Given the description of an element on the screen output the (x, y) to click on. 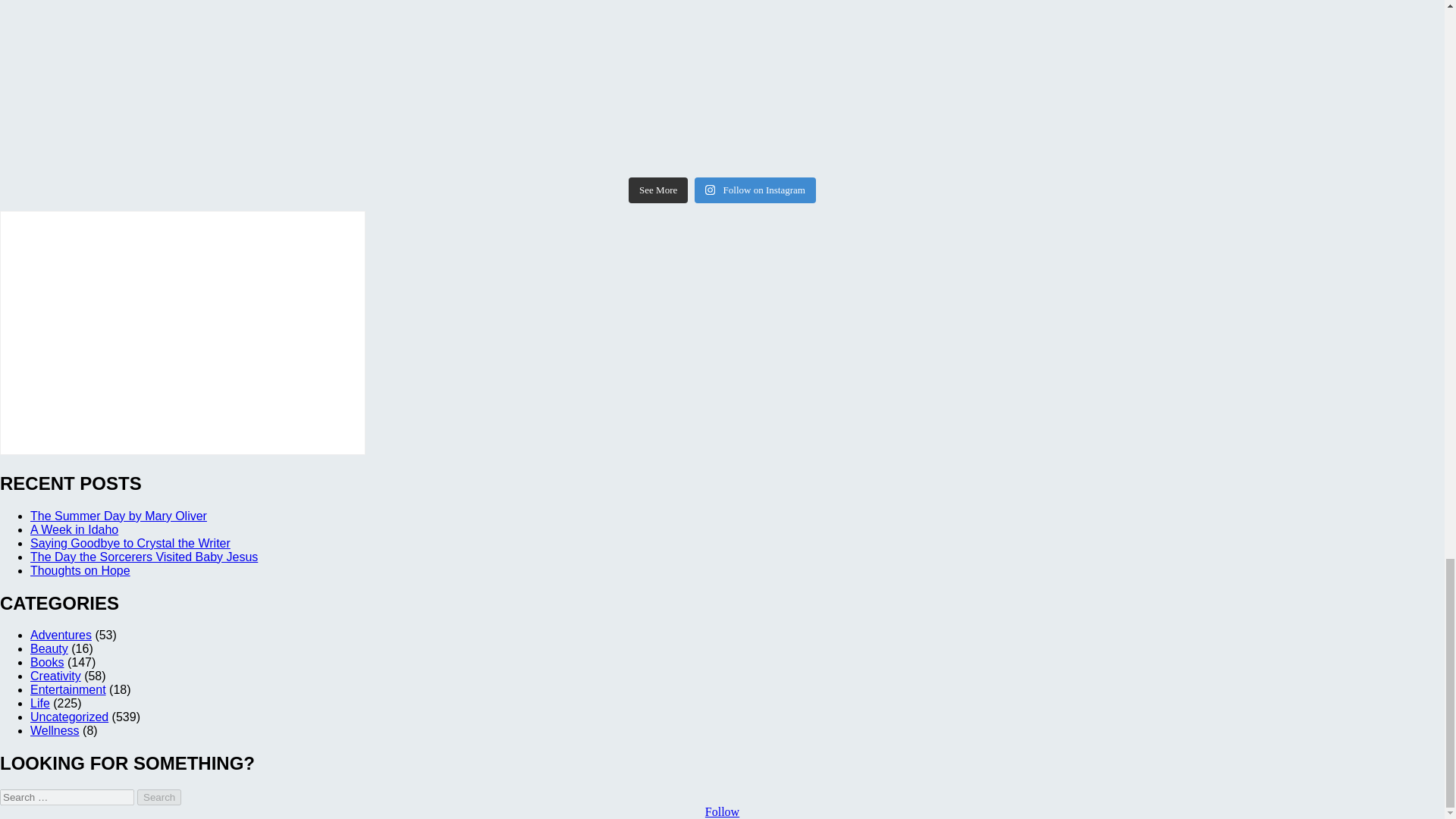
Search (158, 797)
Follow on Instagram (754, 190)
Search (158, 797)
See More (657, 190)
